Given the description of an element on the screen output the (x, y) to click on. 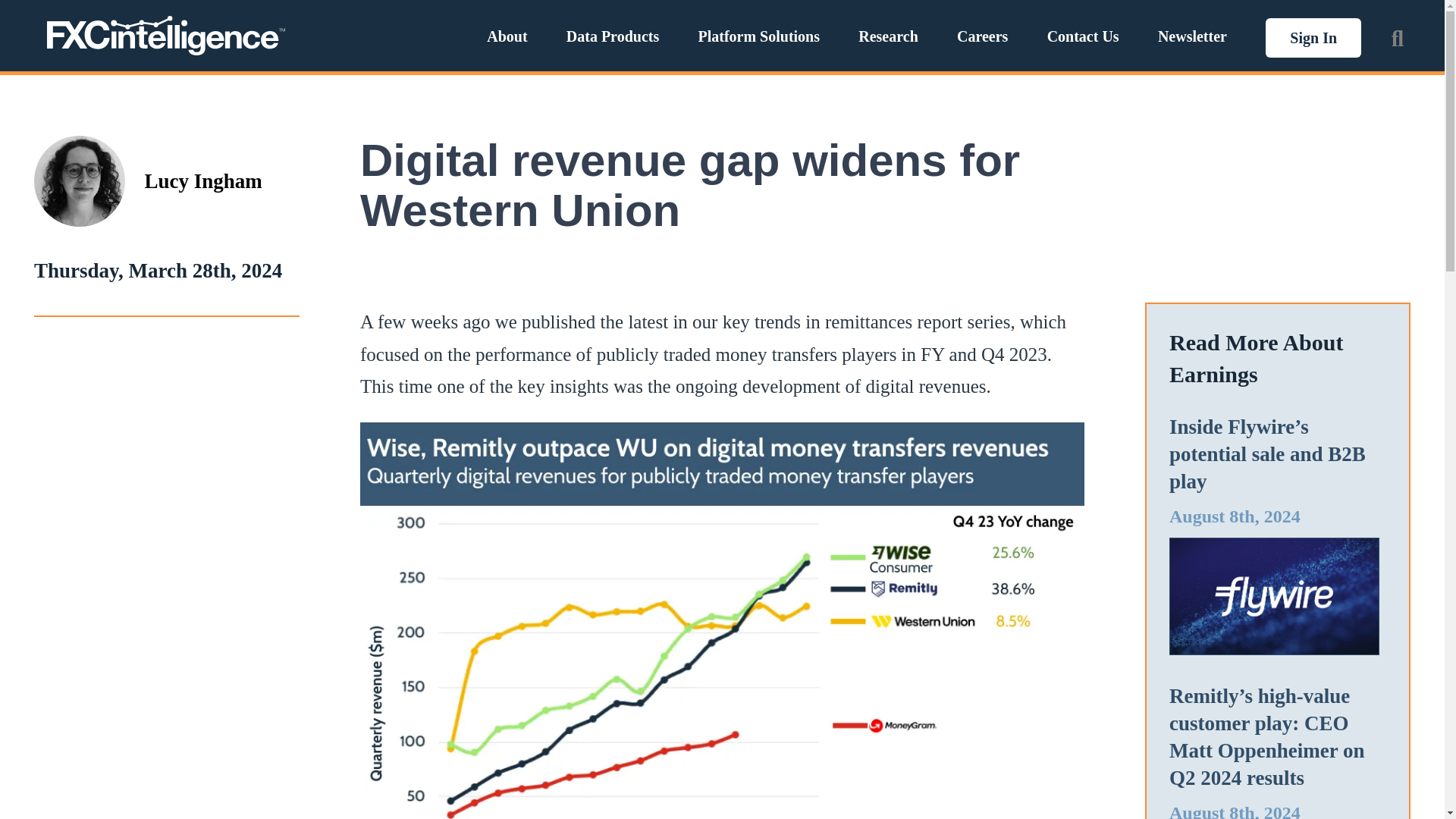
Sign In (1313, 37)
Careers (981, 36)
Contact Us (1082, 36)
Newsletter (1192, 36)
Sign In (1313, 37)
Data Products (612, 36)
About (506, 36)
Platform Solutions (758, 36)
Lucy Ingham (203, 180)
